Given the description of an element on the screen output the (x, y) to click on. 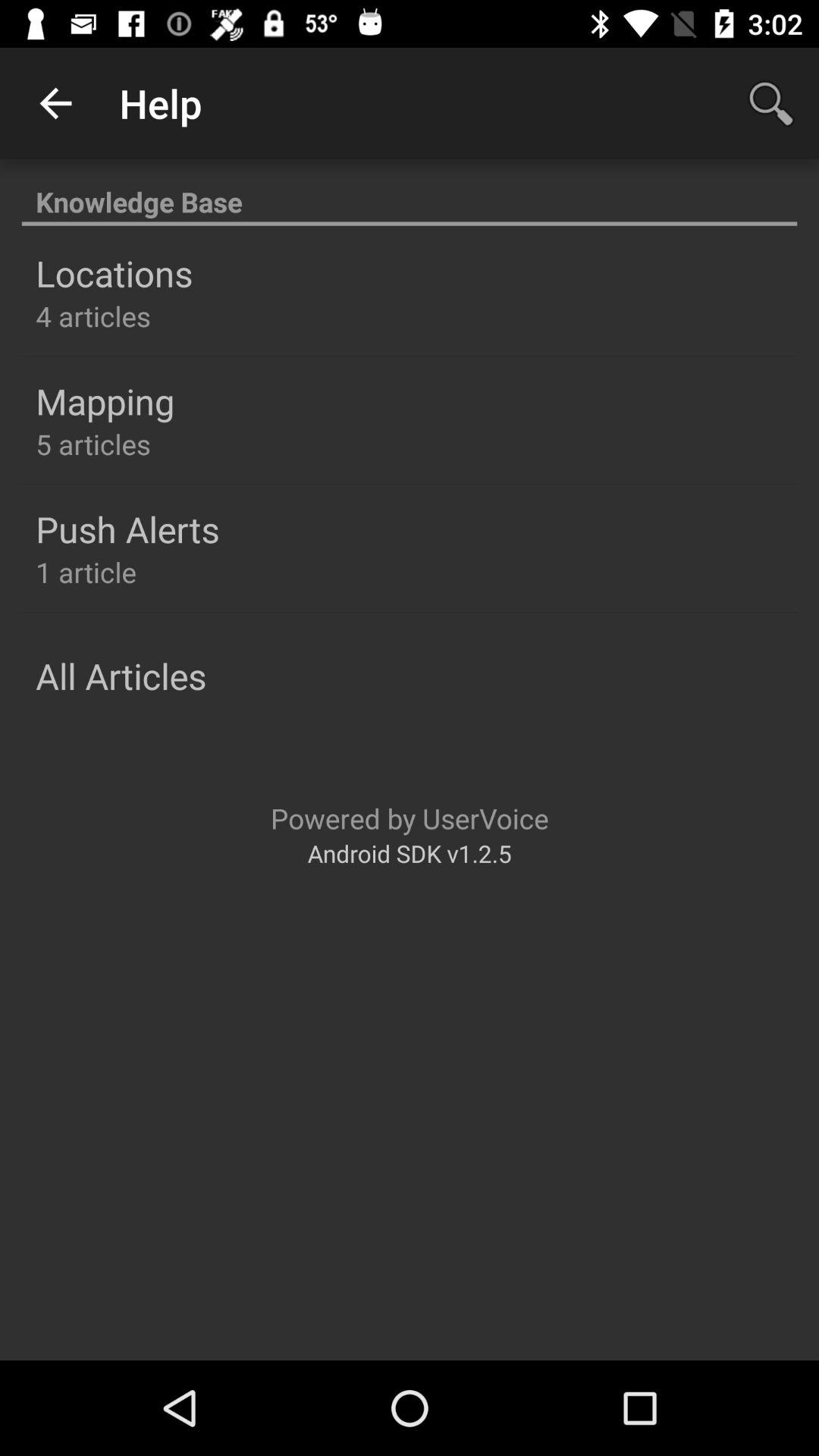
scroll to 1 article icon (85, 571)
